Given the description of an element on the screen output the (x, y) to click on. 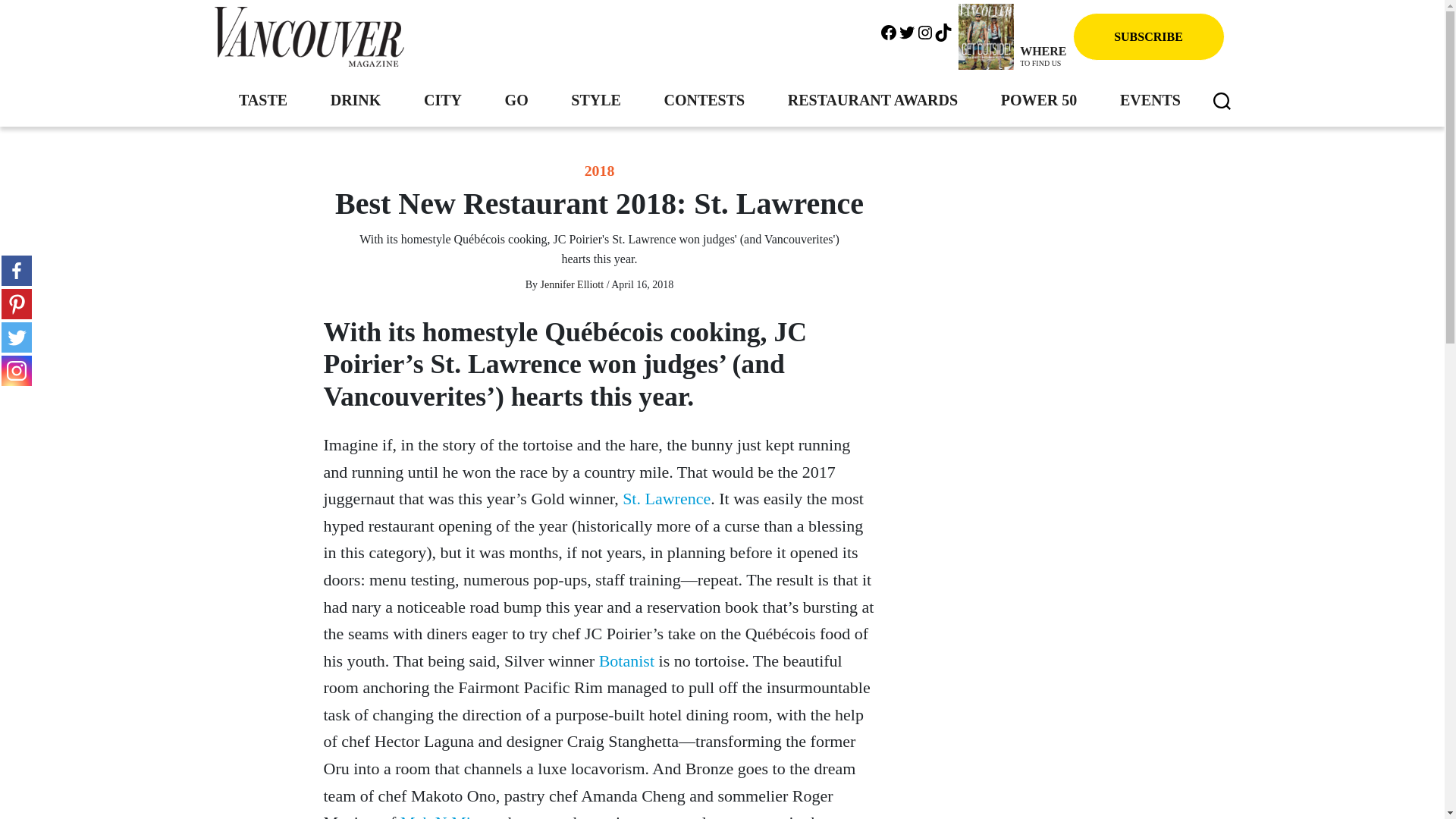
Instagram (16, 370)
Twitter (16, 337)
Twitter (906, 30)
Facebook (888, 30)
DRINK (355, 99)
TikTok (943, 30)
TASTE (262, 99)
Pinterest (16, 304)
Instagram (924, 30)
Facebook (16, 270)
